Given the description of an element on the screen output the (x, y) to click on. 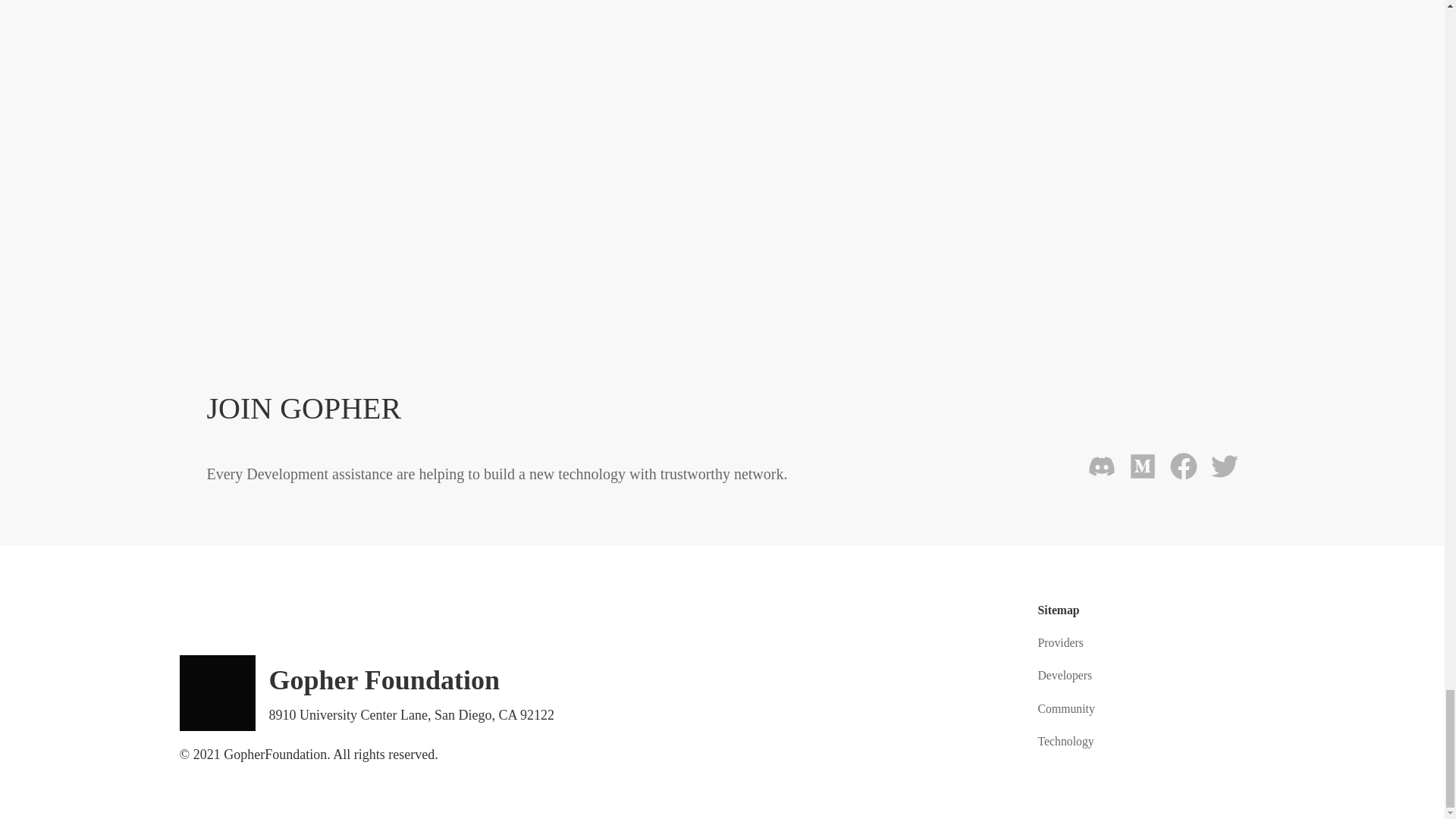
Technology (1064, 740)
Community (1065, 707)
Providers (1059, 642)
Developers (1064, 675)
